Given the description of an element on the screen output the (x, y) to click on. 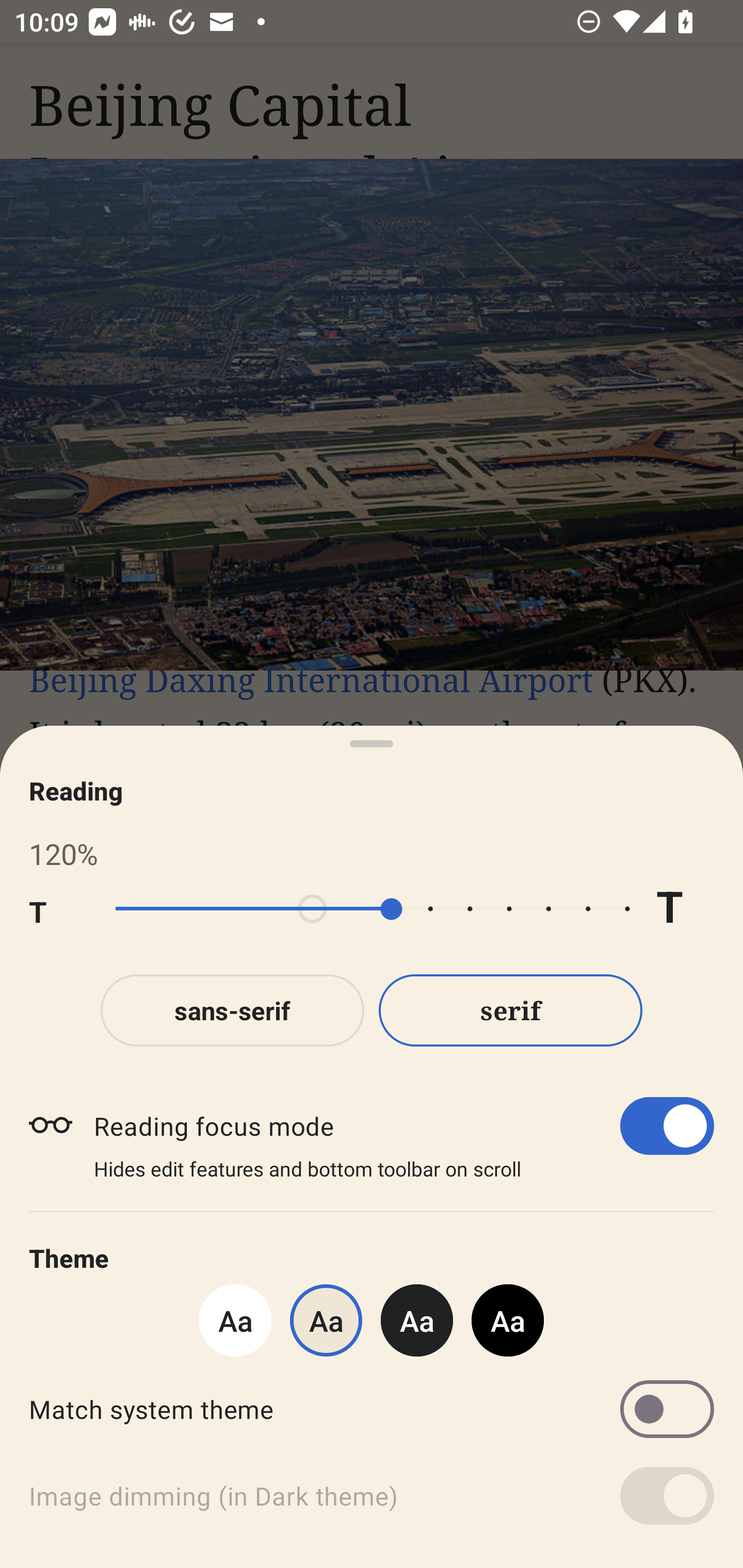
T Decrease text size (57, 909)
T Increase text size (685, 909)
sans-serif (232, 1010)
serif (510, 1010)
Reading focus mode (403, 1125)
Aa (235, 1320)
Aa (416, 1320)
Aa (507, 1320)
Match system theme (371, 1408)
Image dimming (in Dark theme) (371, 1495)
